Given the description of an element on the screen output the (x, y) to click on. 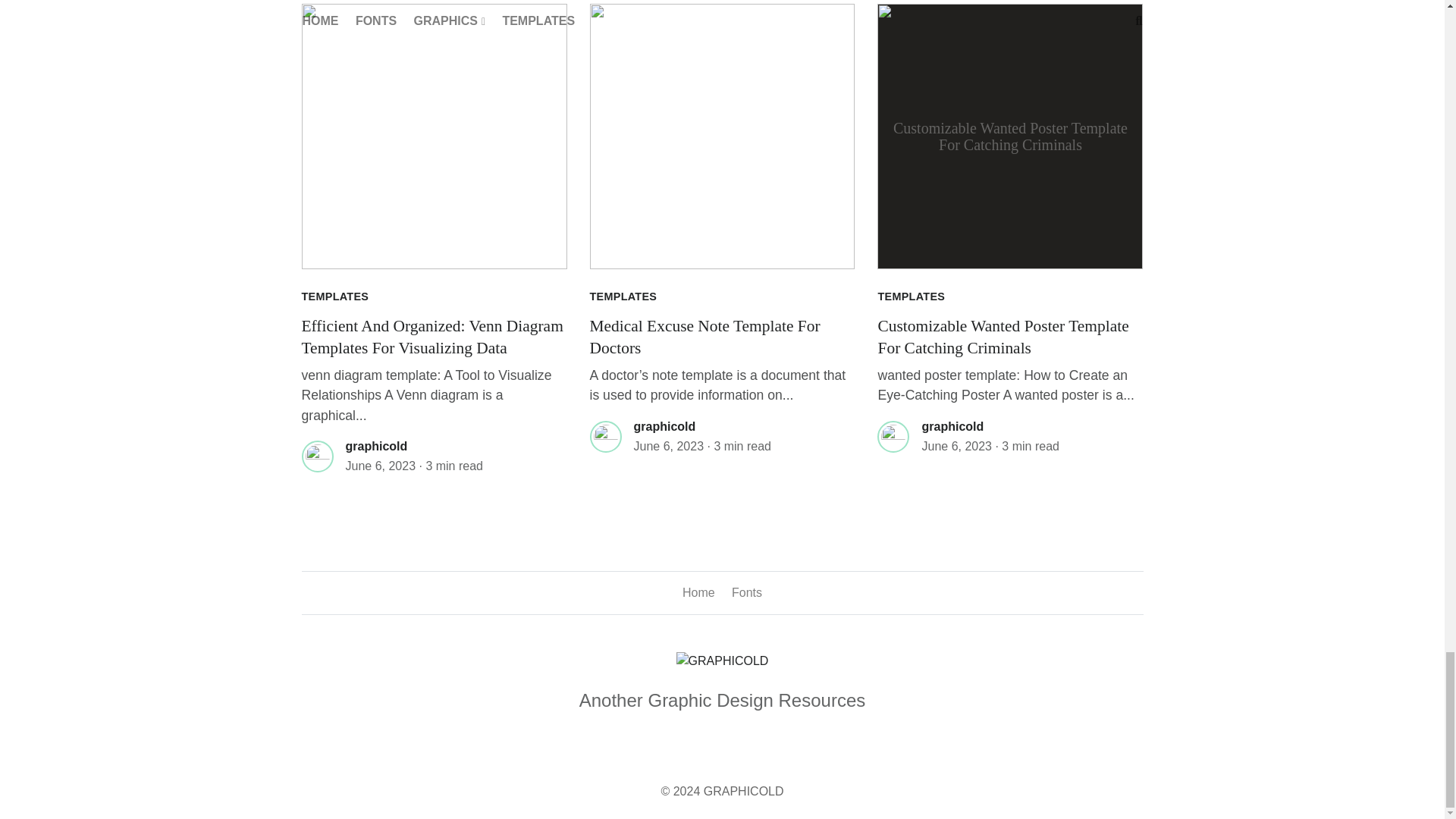
Posts by graphicold (664, 426)
Posts by graphicold (952, 426)
Posts by graphicold (376, 445)
